Given the description of an element on the screen output the (x, y) to click on. 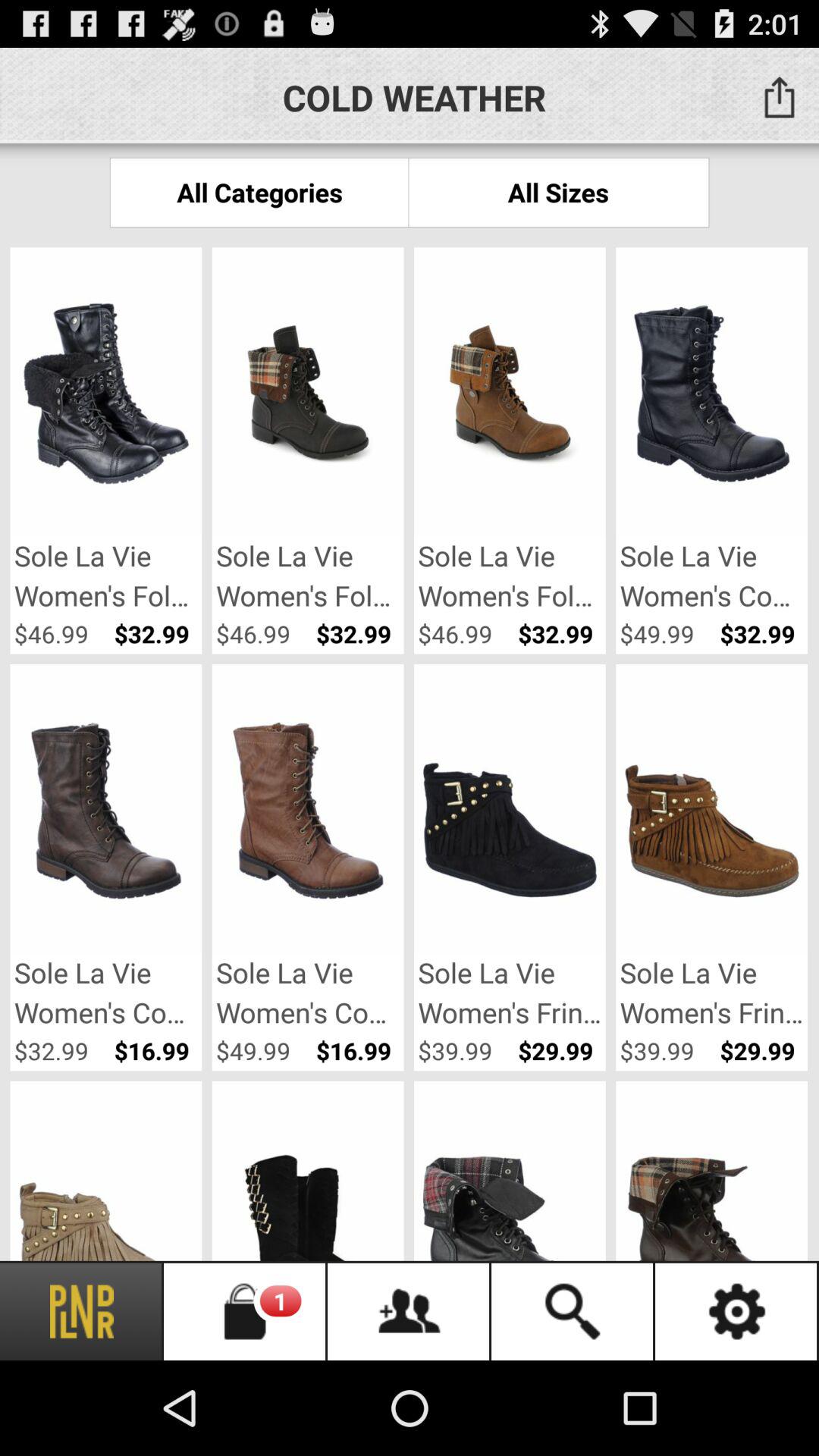
click all sizes app (558, 192)
